Given the description of an element on the screen output the (x, y) to click on. 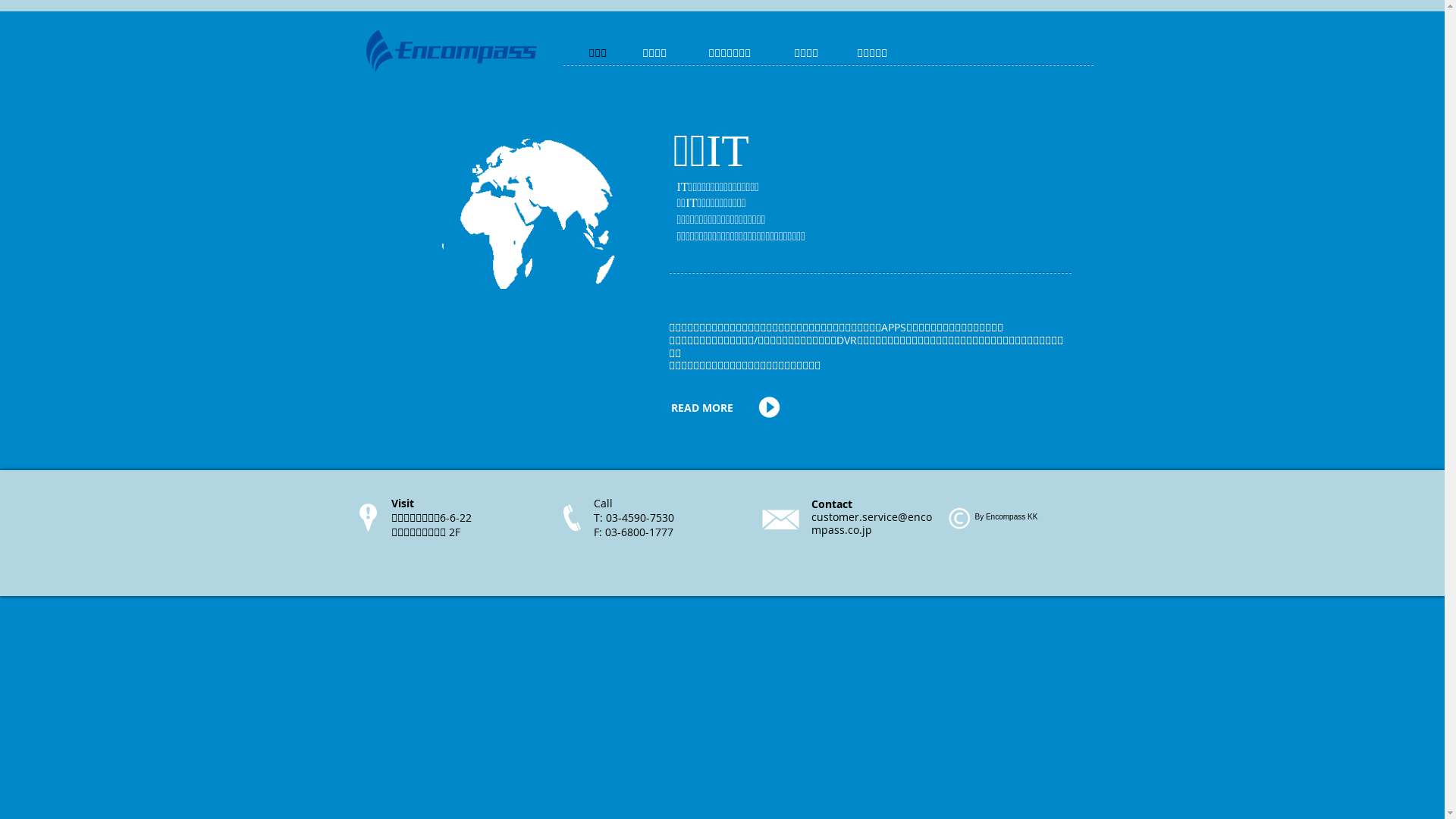
globus246x246.gif Element type: hover (529, 227)
customer.service@encompass.co.jp Element type: text (871, 522)
ECP_Logo_WEB.png Element type: hover (450, 51)
READ MORE Element type: text (705, 407)
